Given the description of an element on the screen output the (x, y) to click on. 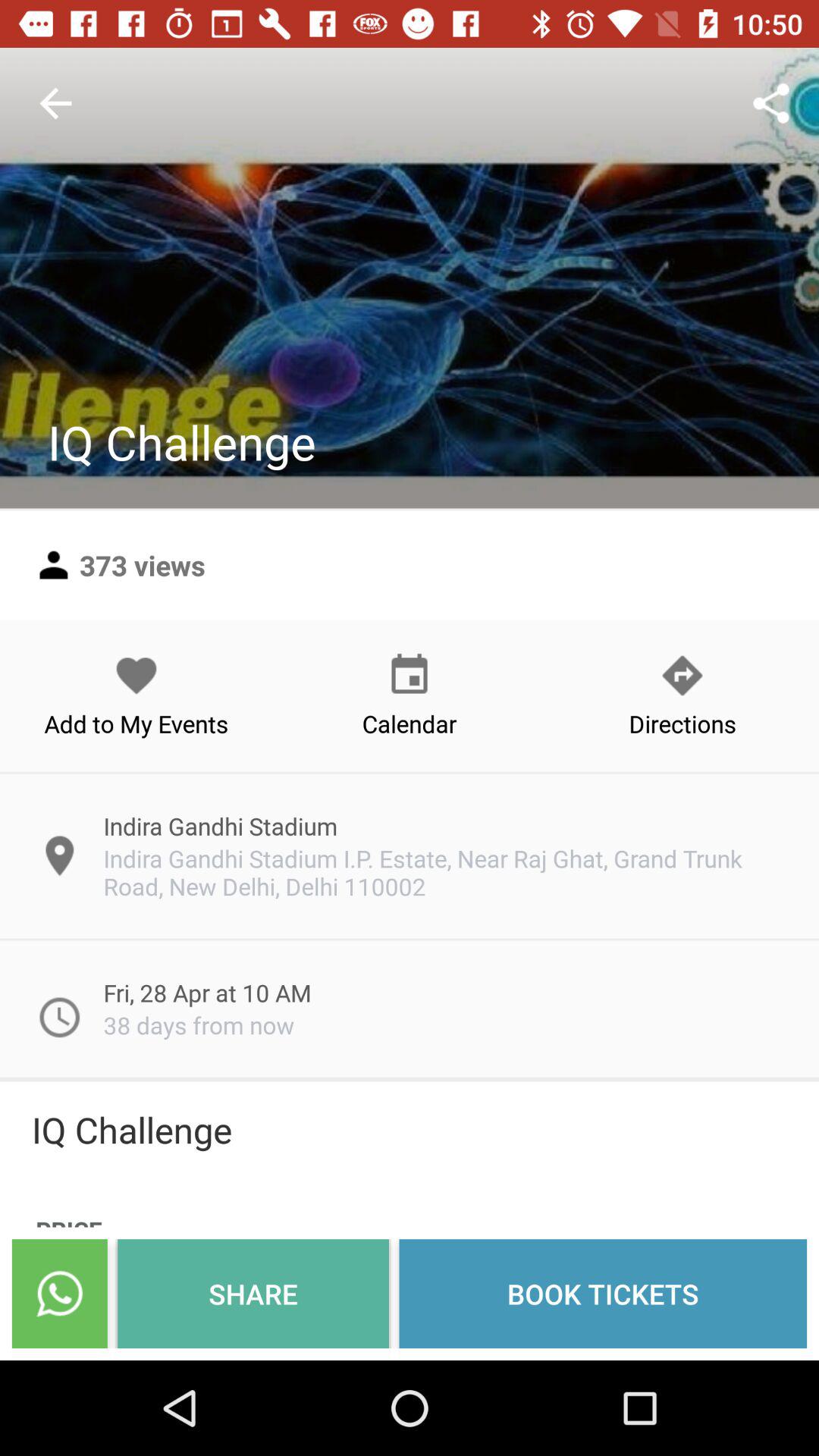
turn off add to my icon (136, 695)
